Given the description of an element on the screen output the (x, y) to click on. 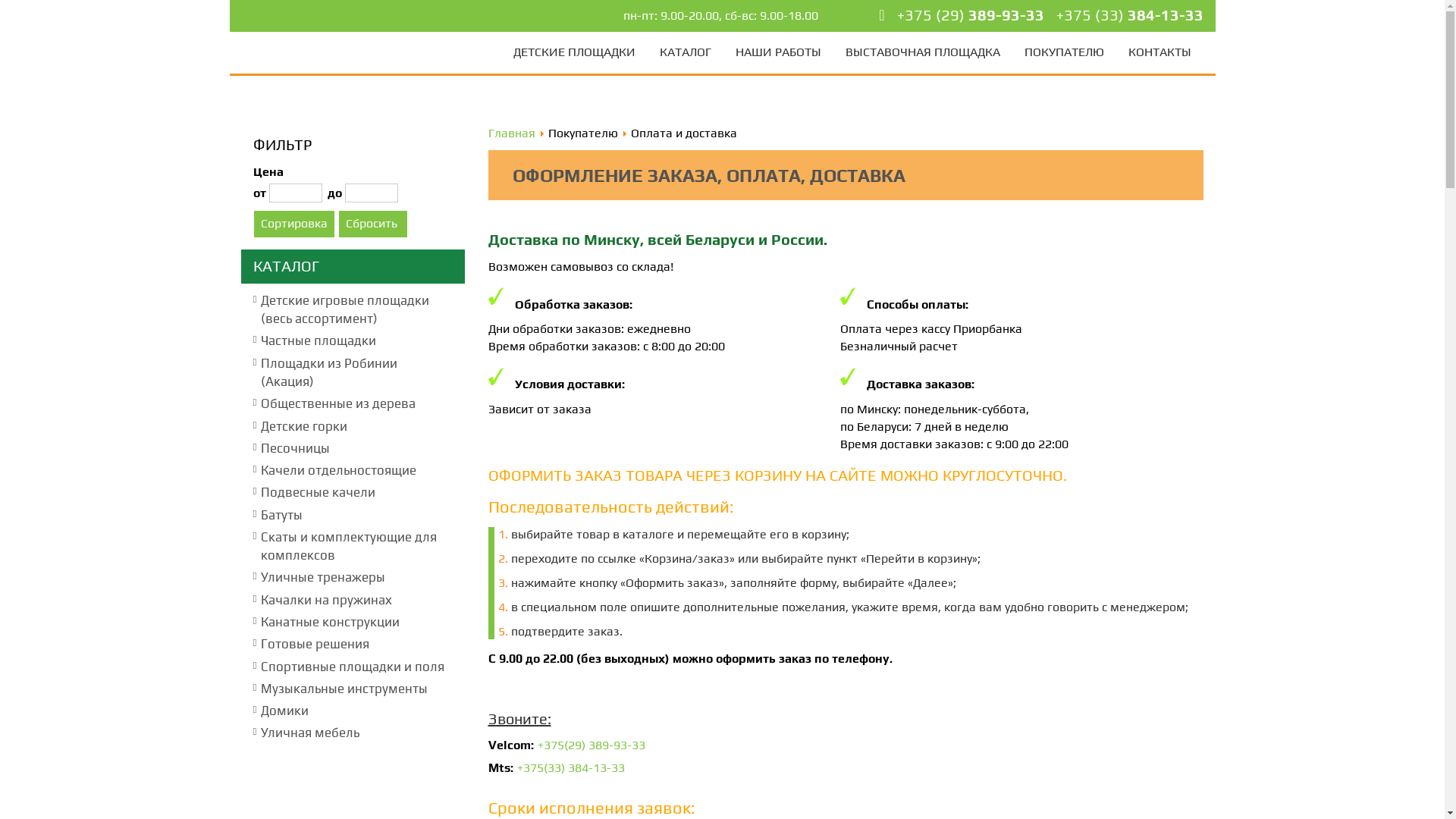
+375 (29) 389-93-33 Element type: text (969, 14)
+375(33) 384-13-33 Element type: text (570, 767)
+375(29) 389-93-33 Element type: text (590, 744)
+375 (33) 384-13-33 Element type: text (1128, 14)
